Given the description of an element on the screen output the (x, y) to click on. 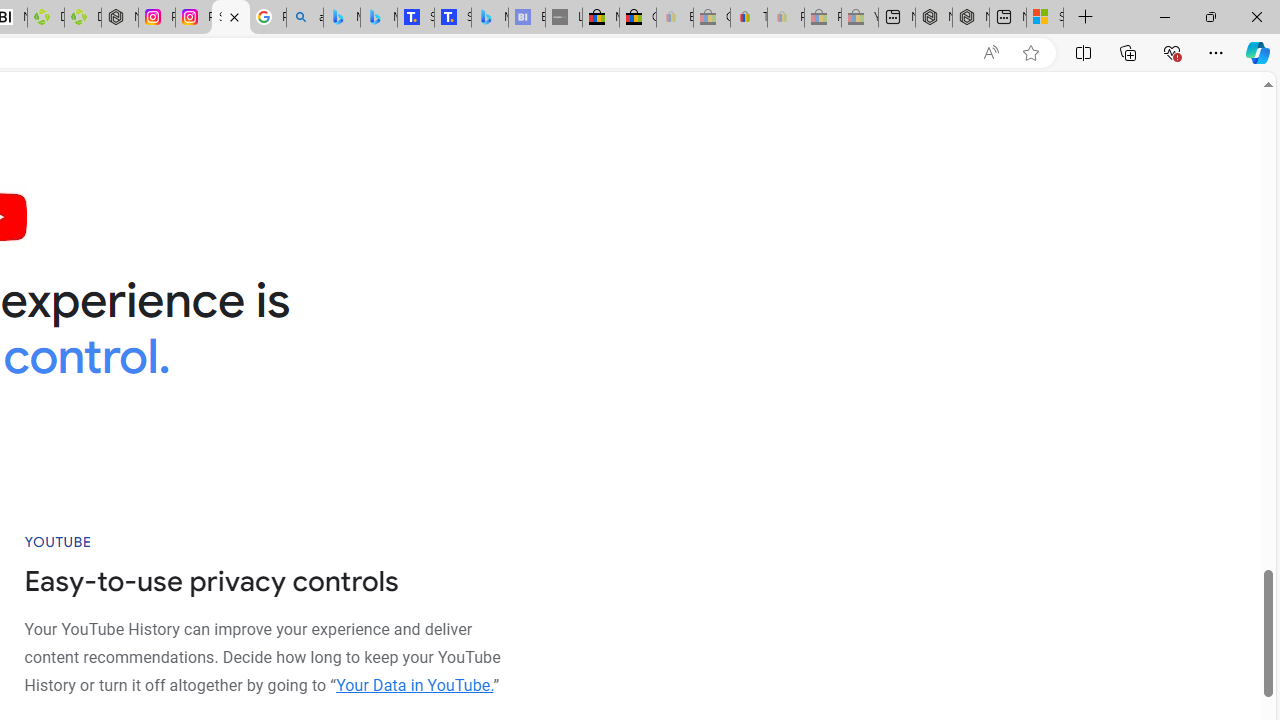
Descarga Driver Updater (83, 17)
Yard, Garden & Outdoor Living - Sleeping (860, 17)
Safety in Our Products - Google Safety Center (230, 17)
Threats and offensive language policy | eBay (748, 17)
